Given the description of an element on the screen output the (x, y) to click on. 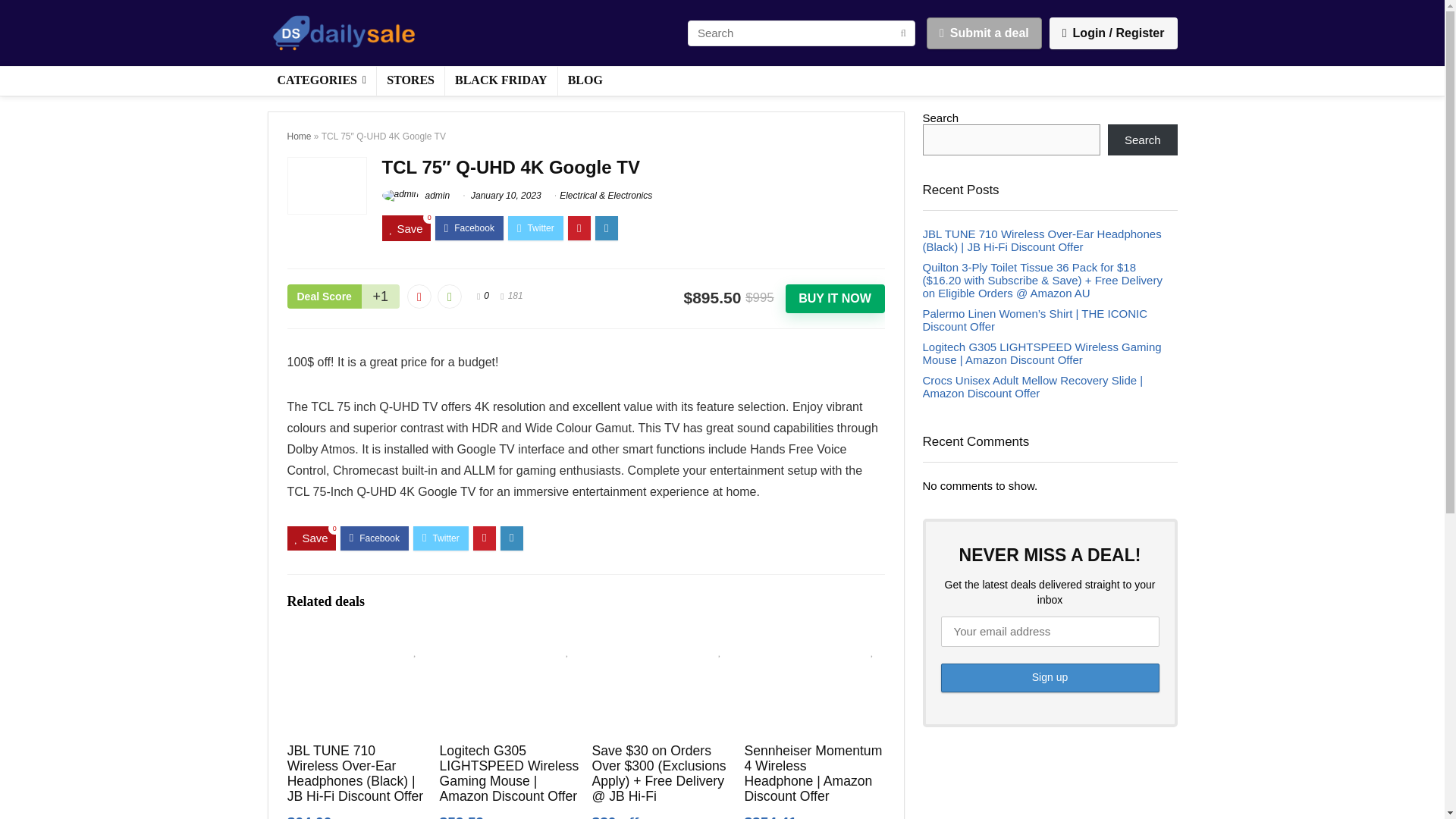
admin (415, 194)
Vote down (418, 296)
Sign up (1049, 677)
BLACK FRIDAY (501, 80)
STORES (410, 80)
BLOG (584, 80)
CATEGORIES (320, 80)
Submit a deal (984, 33)
BUY IT NOW (835, 298)
Home (298, 136)
